Given the description of an element on the screen output the (x, y) to click on. 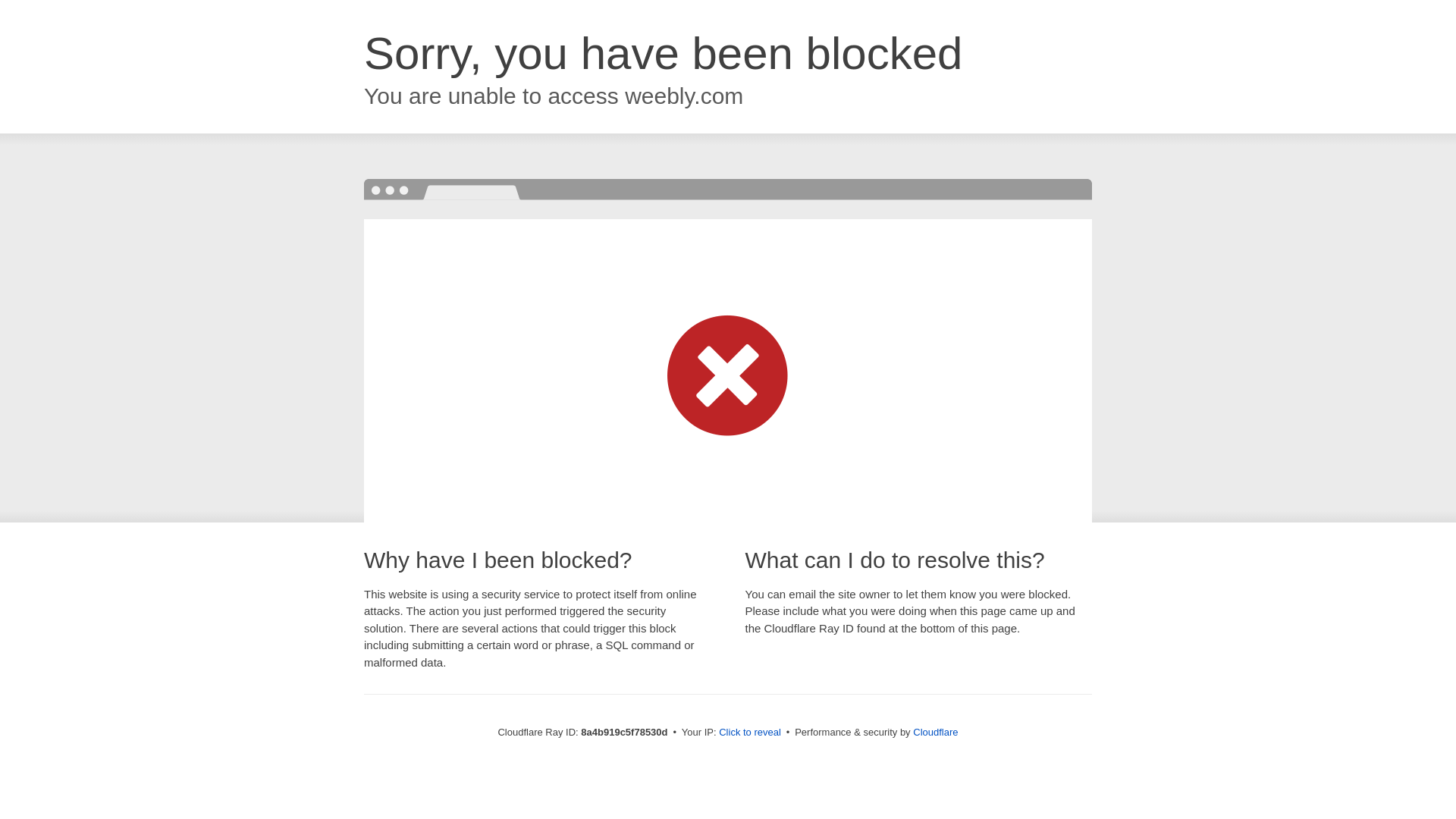
Cloudflare (935, 731)
Click to reveal (749, 732)
